Given the description of an element on the screen output the (x, y) to click on. 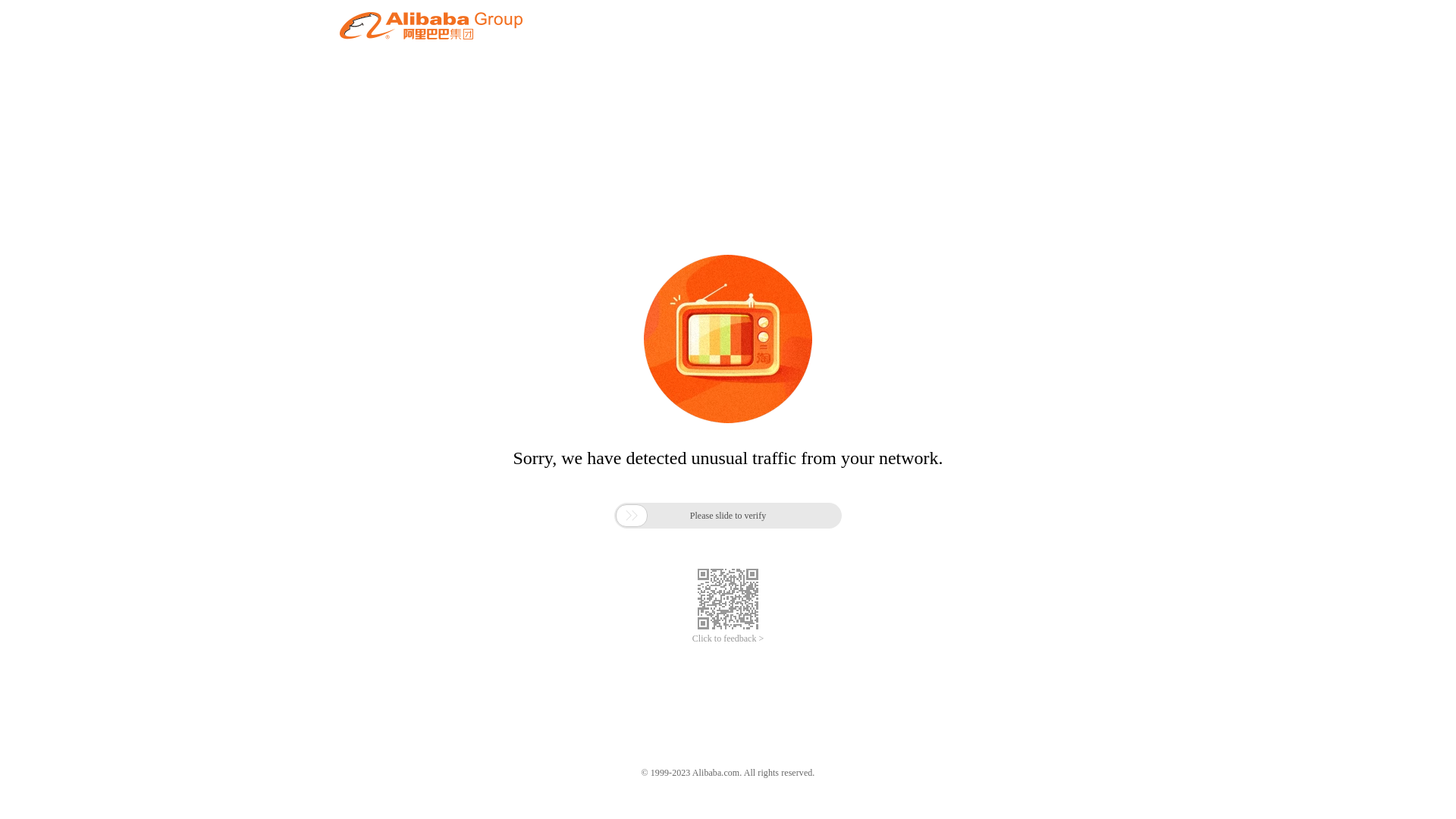
Click to feedback > Element type: text (727, 638)
